Given the description of an element on the screen output the (x, y) to click on. 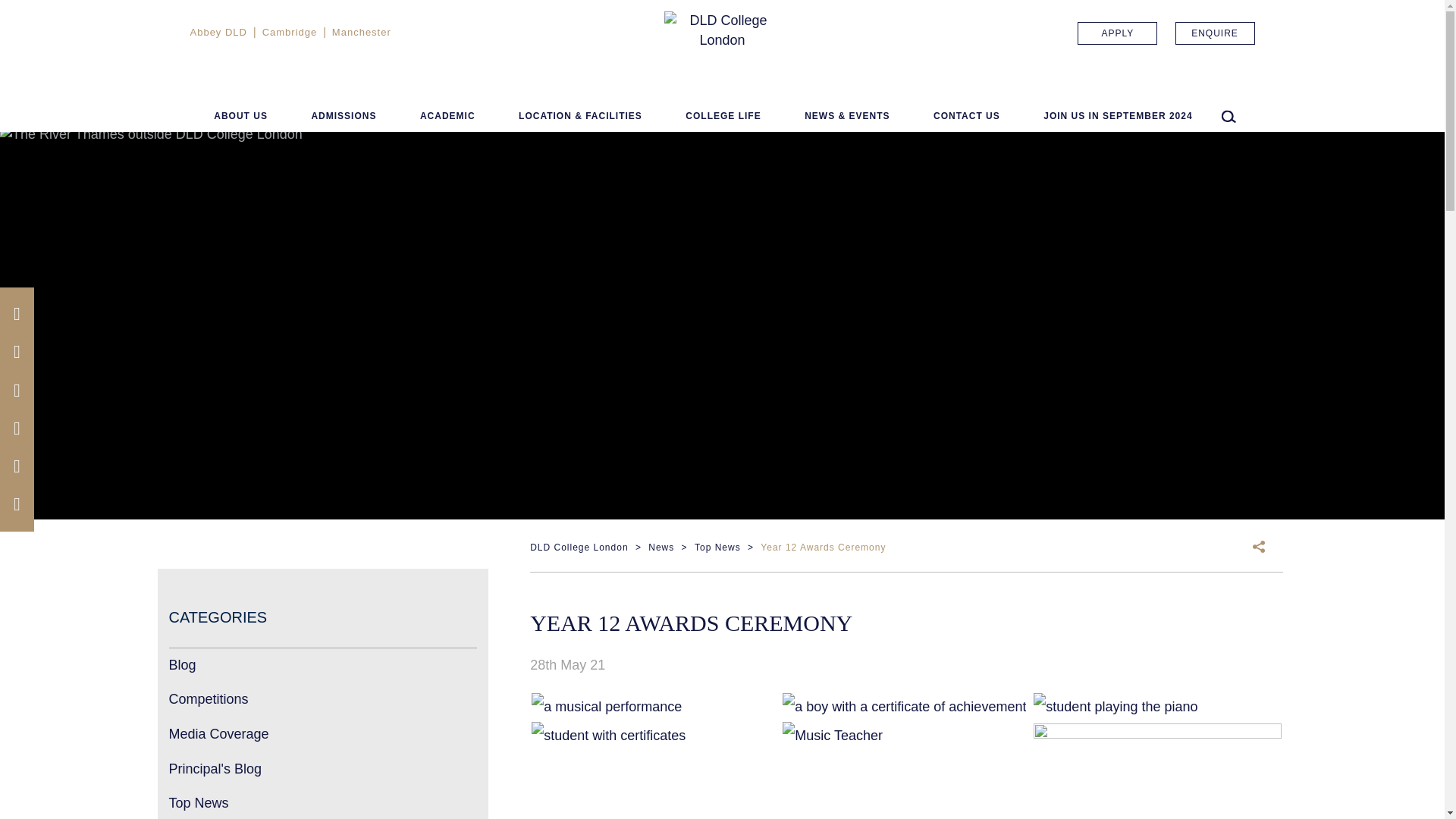
Go to DLD College London. (578, 547)
Go to News. (660, 547)
Go to the Top News category archives. (717, 547)
ABOUT US (240, 117)
Cambridge (289, 32)
Manchester (361, 32)
ENQUIRE (1214, 33)
Abbey DLD (217, 32)
APPLY (1117, 33)
ADMISSIONS (343, 117)
